Given the description of an element on the screen output the (x, y) to click on. 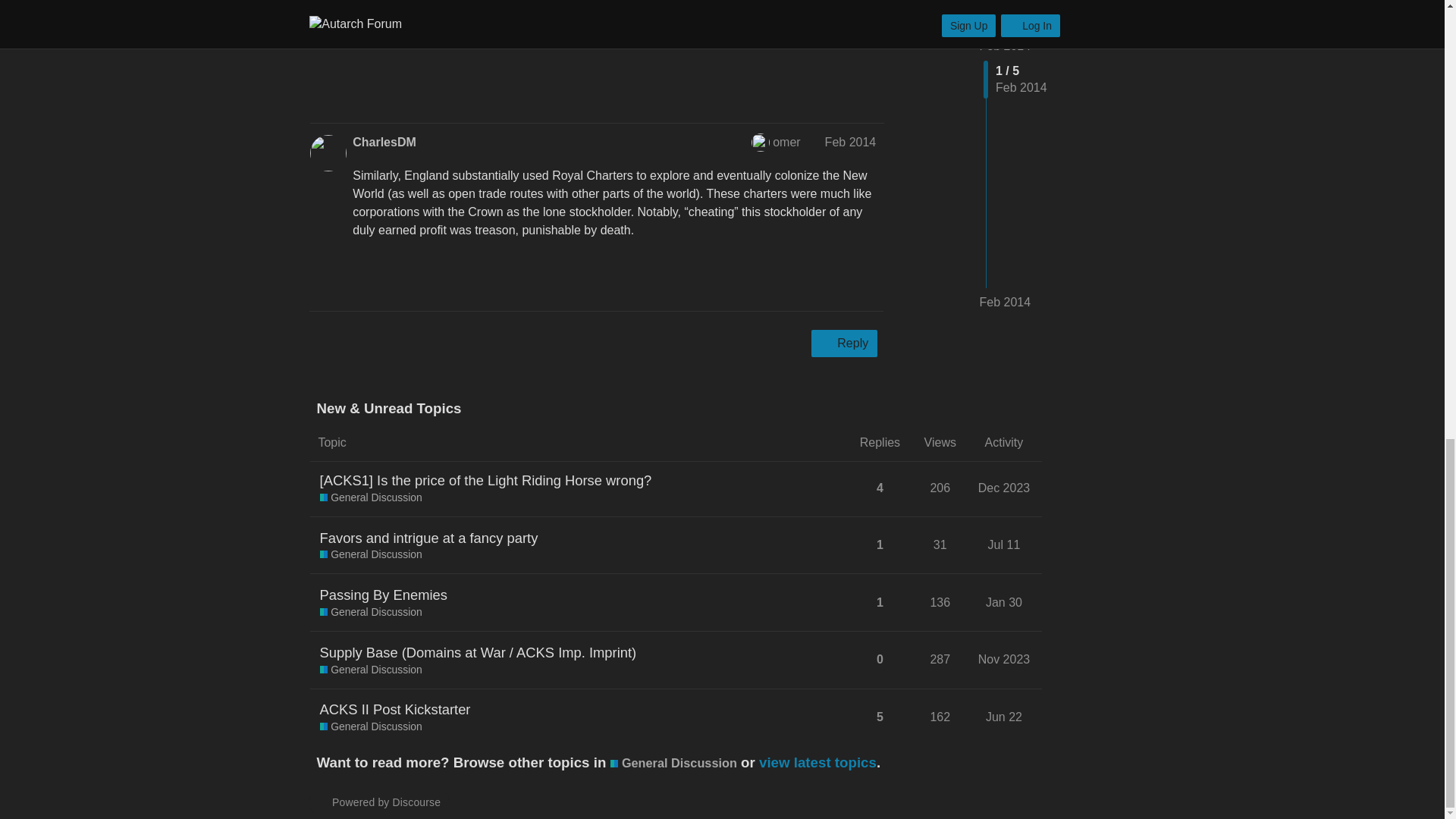
CharlesDM (384, 142)
omer (767, 142)
Feb 2014 (850, 141)
